Given the description of an element on the screen output the (x, y) to click on. 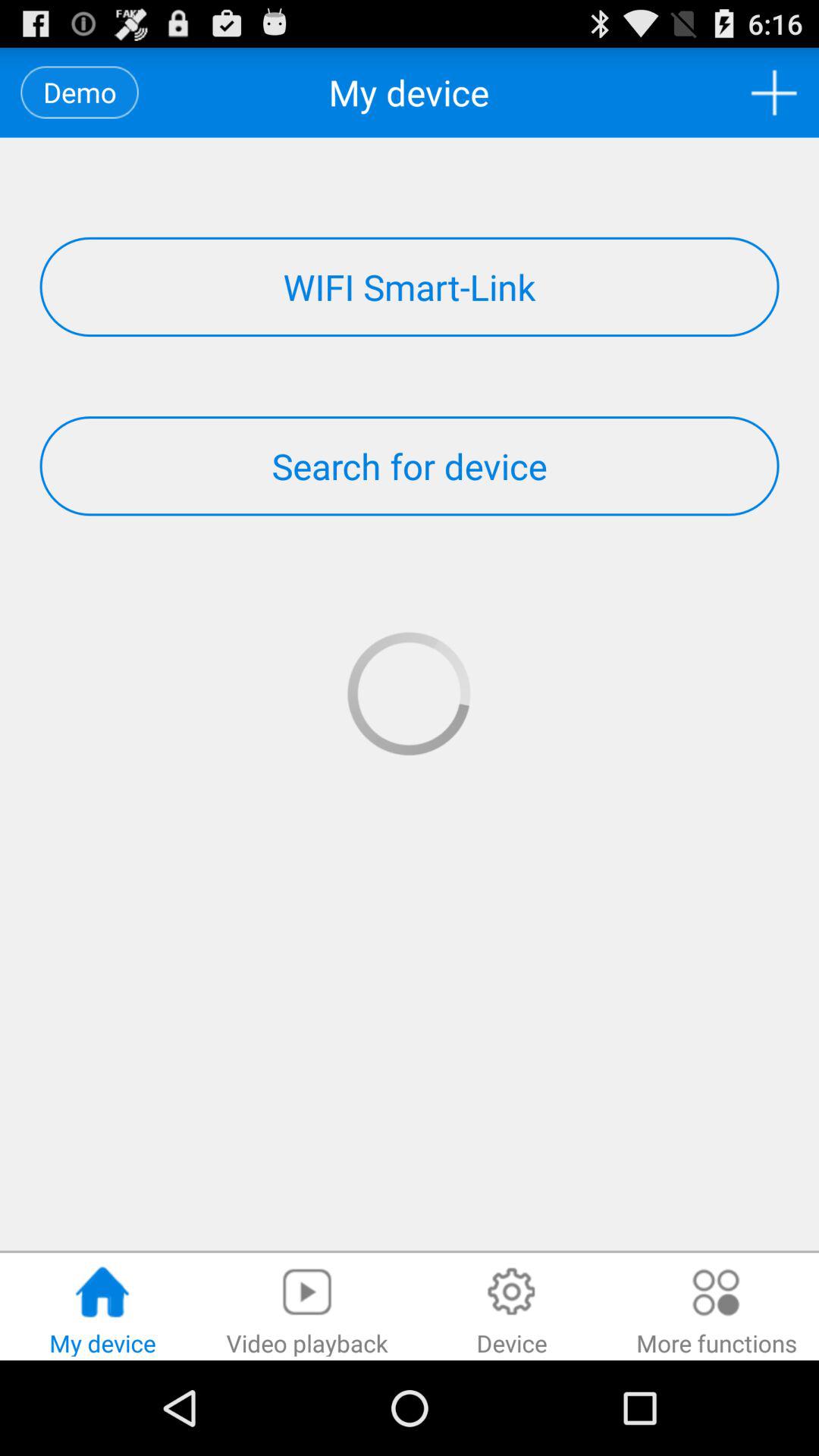
create a post (774, 92)
